Given the description of an element on the screen output the (x, y) to click on. 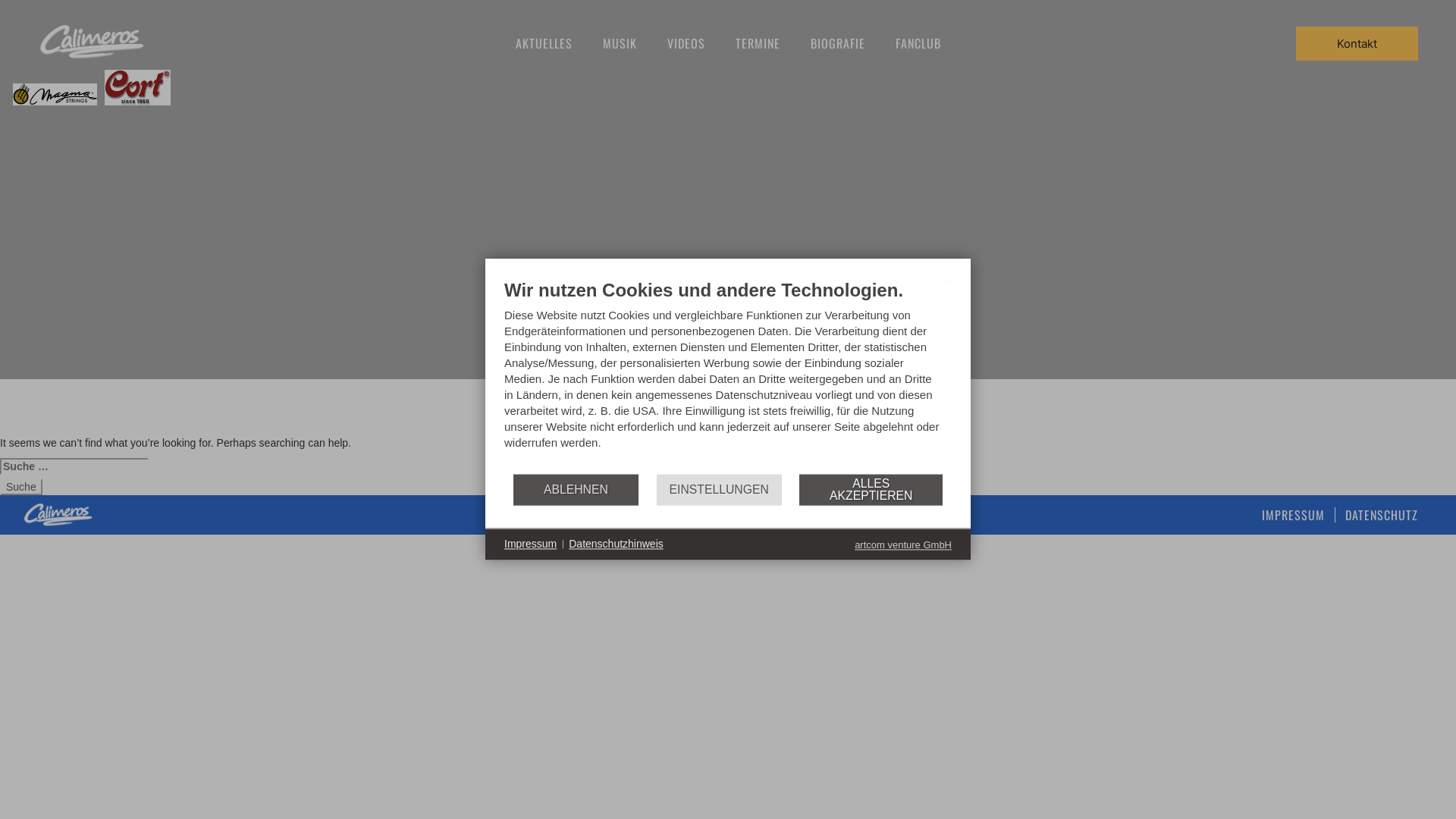
FANCLUB Element type: text (917, 42)
TERMINE Element type: text (757, 42)
IMPRESSUM Element type: text (1292, 514)
Impressum Element type: text (530, 544)
ALLES AKZEPTIEREN Element type: text (870, 489)
artcom venture GmbH Element type: text (902, 544)
DATENSCHUTZ Element type: text (1381, 514)
AKTUELLES Element type: text (543, 42)
VIDEOS Element type: text (686, 42)
Suche Element type: text (21, 486)
MUSIK Element type: text (618, 42)
Kontakt Element type: text (1356, 43)
Datenschutzhinweis Element type: text (615, 544)
EINSTELLUNGEN Element type: text (718, 489)
BIOGRAFIE Element type: text (836, 42)
ABLEHNEN Element type: text (575, 489)
